Given the description of an element on the screen output the (x, y) to click on. 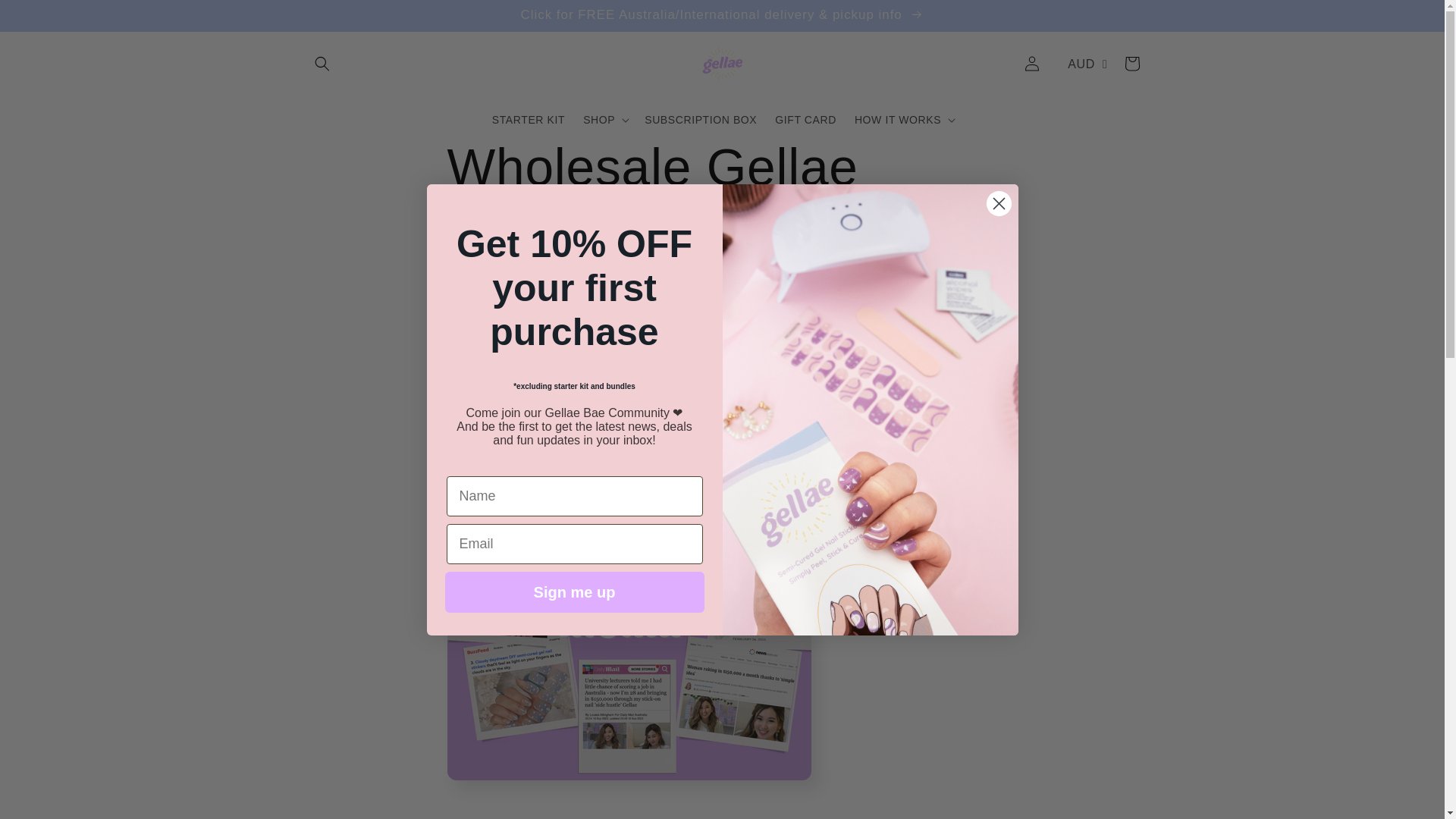
Skip to content (45, 17)
STARTER KIT (528, 119)
Close dialog 1 (998, 202)
